Given the description of an element on the screen output the (x, y) to click on. 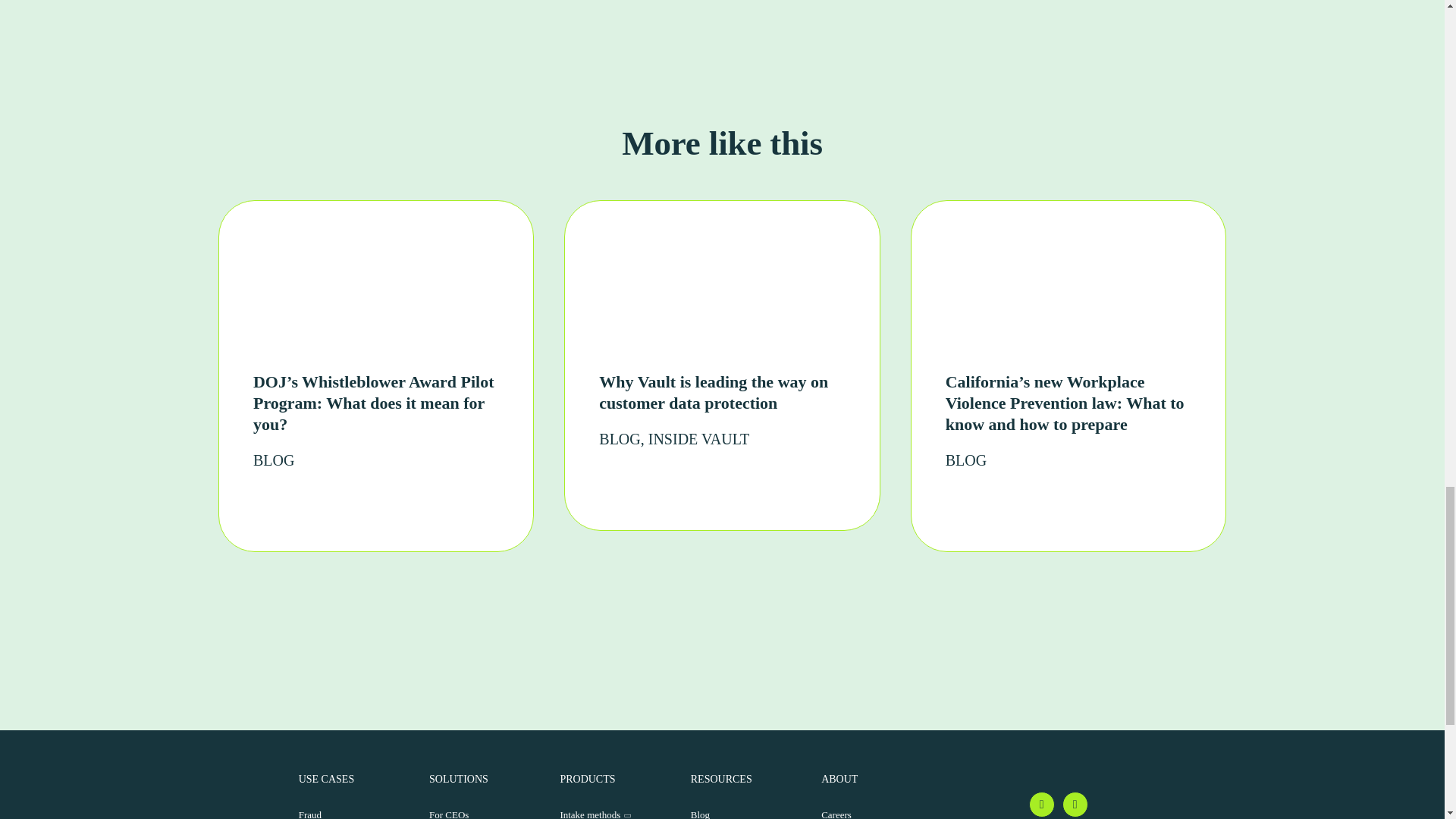
LinkedIn (1074, 804)
Line 7 (1097, 504)
BLOG (965, 460)
Inside Vault (698, 438)
Line 7 (405, 504)
Why Vault is leading the way on customer data protection (713, 392)
X (1041, 804)
wvpp california (1058, 291)
Blog (619, 438)
DOJ (366, 291)
